Given the description of an element on the screen output the (x, y) to click on. 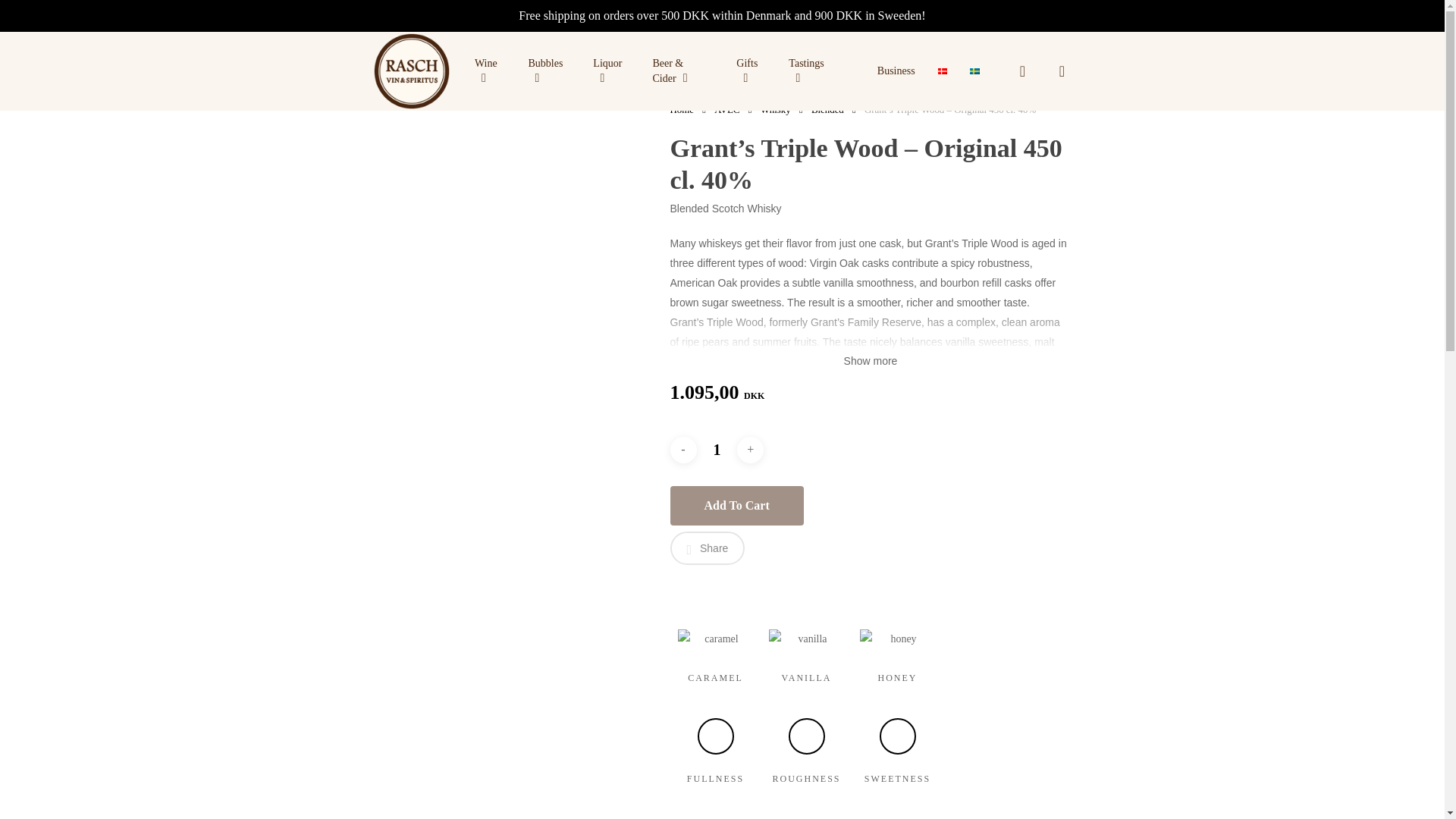
Bubbles (548, 71)
1 (715, 449)
Wine (489, 71)
- (683, 449)
